Given the description of an element on the screen output the (x, y) to click on. 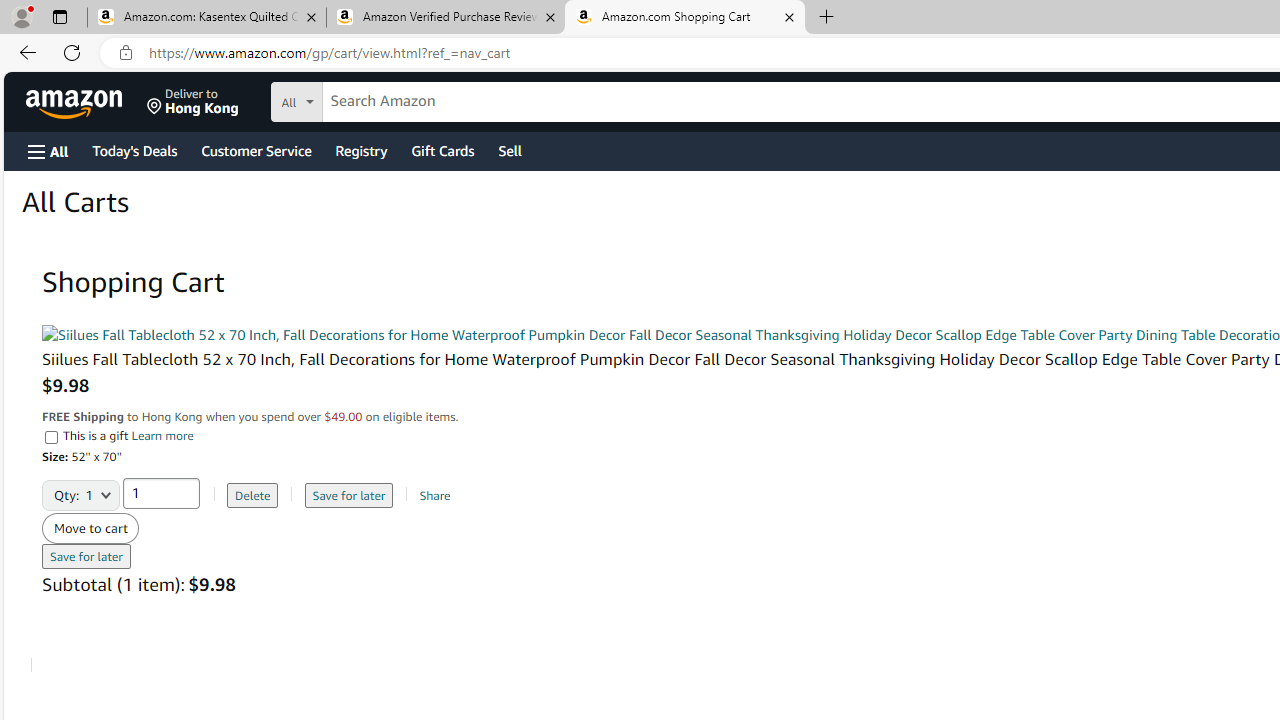
Amazon Verified Purchase Reviews - Amazon Customer Service (445, 17)
Amazon (76, 101)
Registry (360, 150)
Today's Deals (134, 150)
Customer Service (256, 150)
Amazon.com Shopping Cart (684, 17)
